Given the description of an element on the screen output the (x, y) to click on. 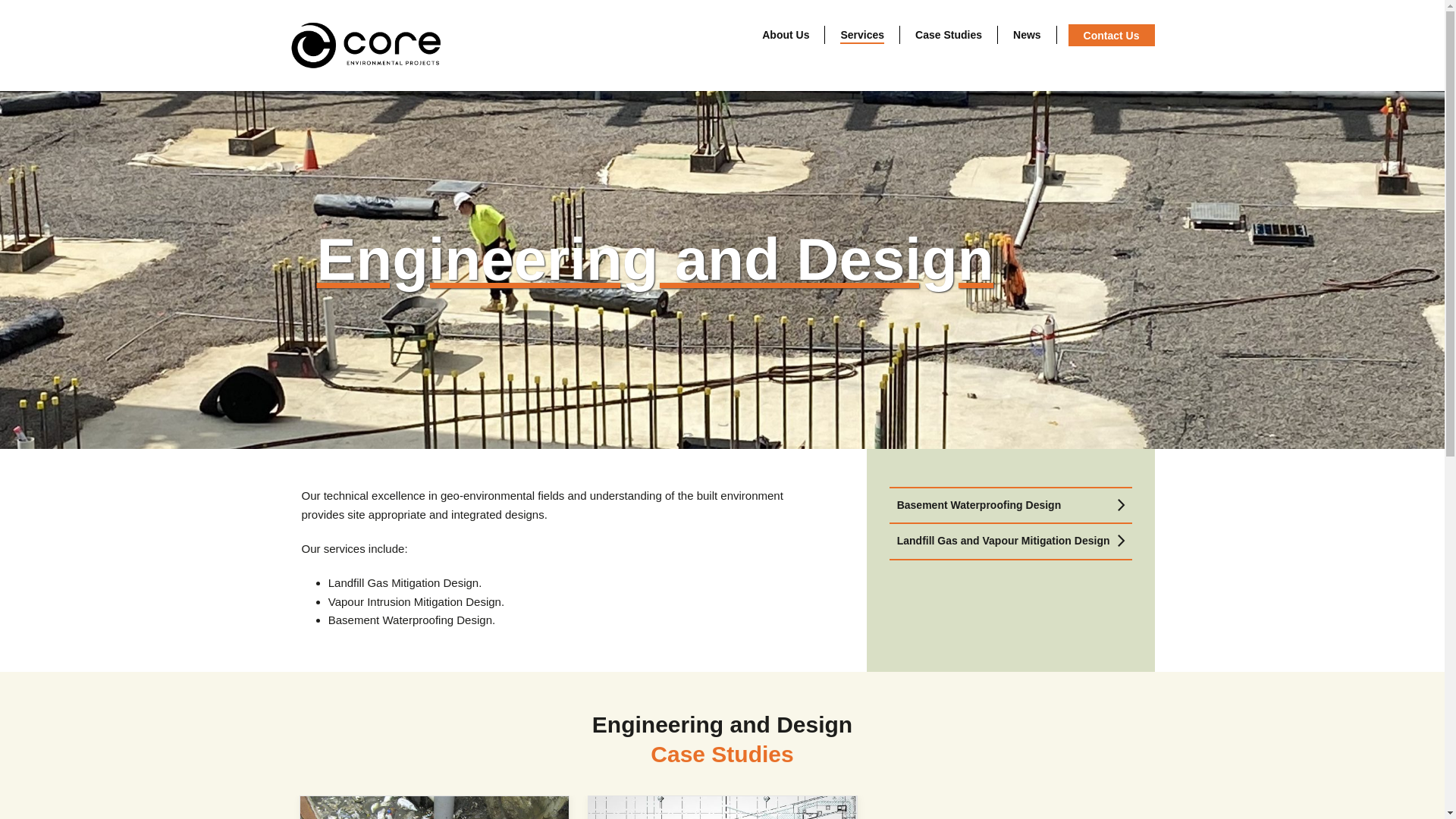
News Element type: text (1027, 34)
Contact Us Element type: text (1111, 35)
Basement Waterproofing Design Element type: text (1009, 505)
Services Element type: text (862, 34)
Case Studies Element type: text (948, 34)
About Us Element type: text (785, 34)
Geo-Environmental Consultants Element type: hover (365, 45)
Landfill Gas and Vapour Mitigation Design Element type: text (1009, 541)
